Given the description of an element on the screen output the (x, y) to click on. 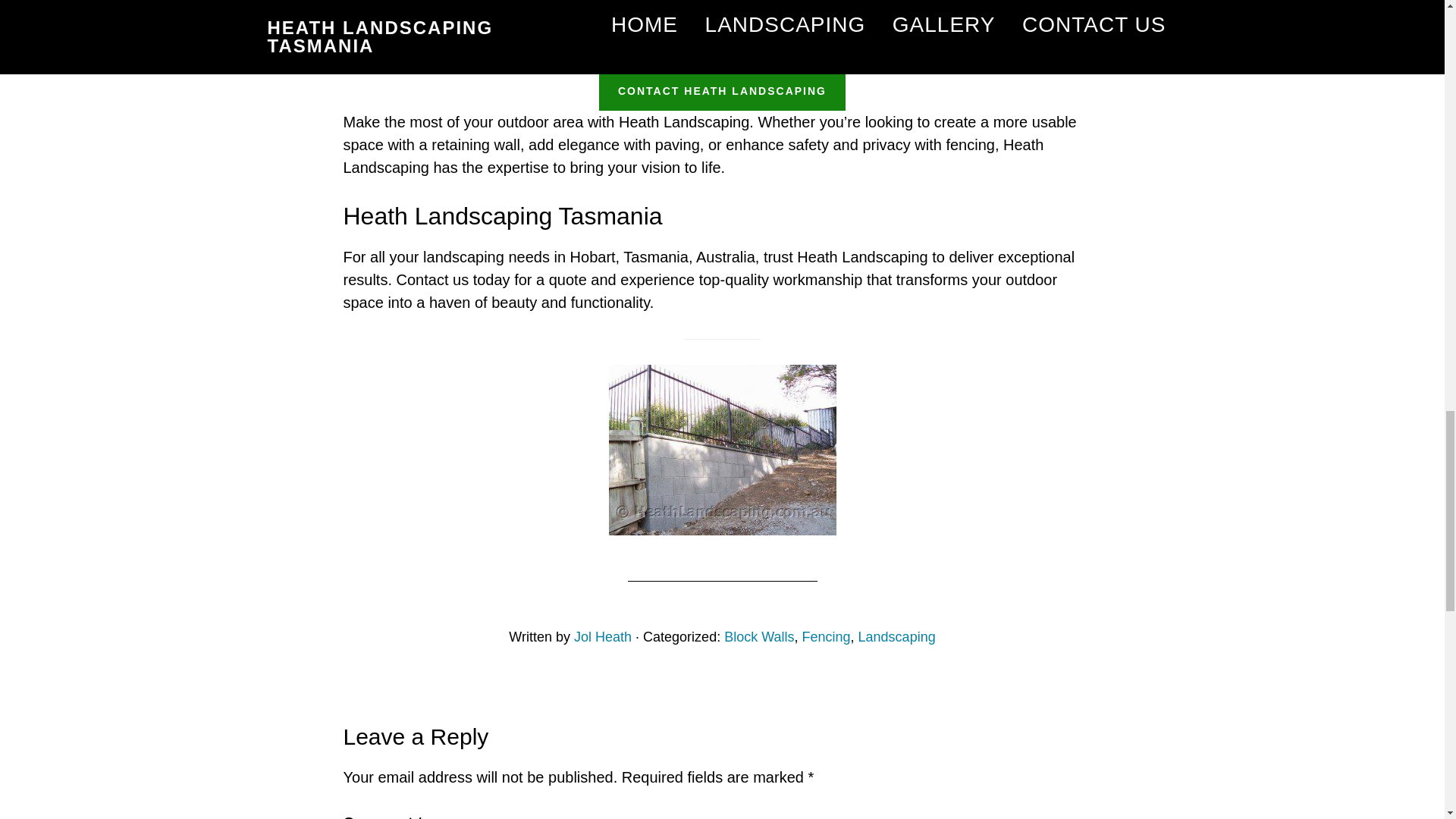
Block Walls (758, 636)
Fencing (826, 636)
CONTACT HEATH LANDSCAPING (721, 91)
Jol Heath (602, 636)
Landscaping (897, 636)
